Given the description of an element on the screen output the (x, y) to click on. 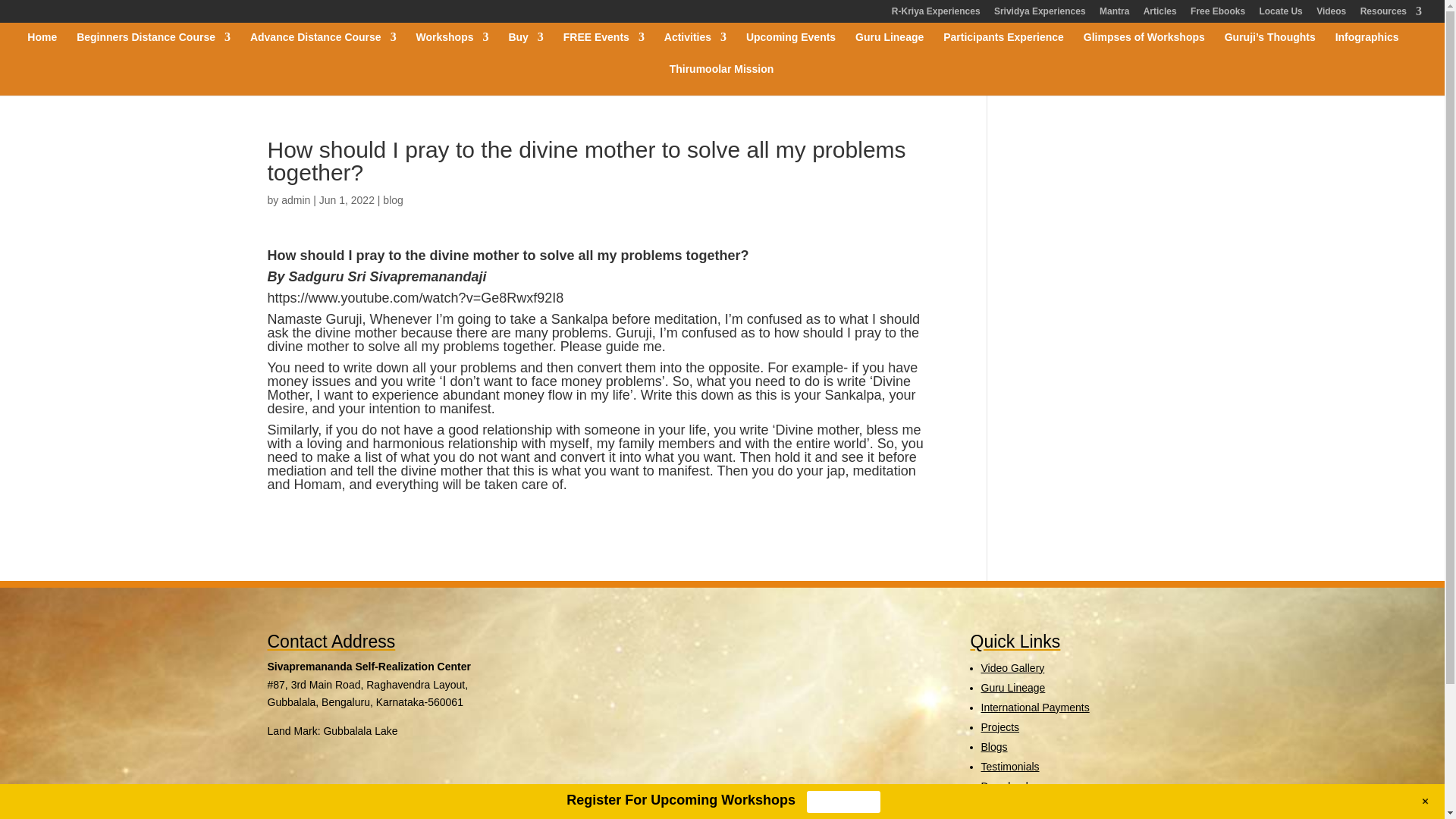
Free Ebooks (1217, 14)
Advance Distance Course (323, 47)
Articles (1159, 14)
Workshops (452, 47)
Mantra (1114, 14)
Home (41, 47)
Beginners Distance Course (153, 47)
Srividya Experiences (1040, 14)
Locate Us (1280, 14)
Resources (1390, 14)
Videos (1330, 14)
R-Kriya Experiences (935, 14)
Posts by admin (295, 200)
